Given the description of an element on the screen output the (x, y) to click on. 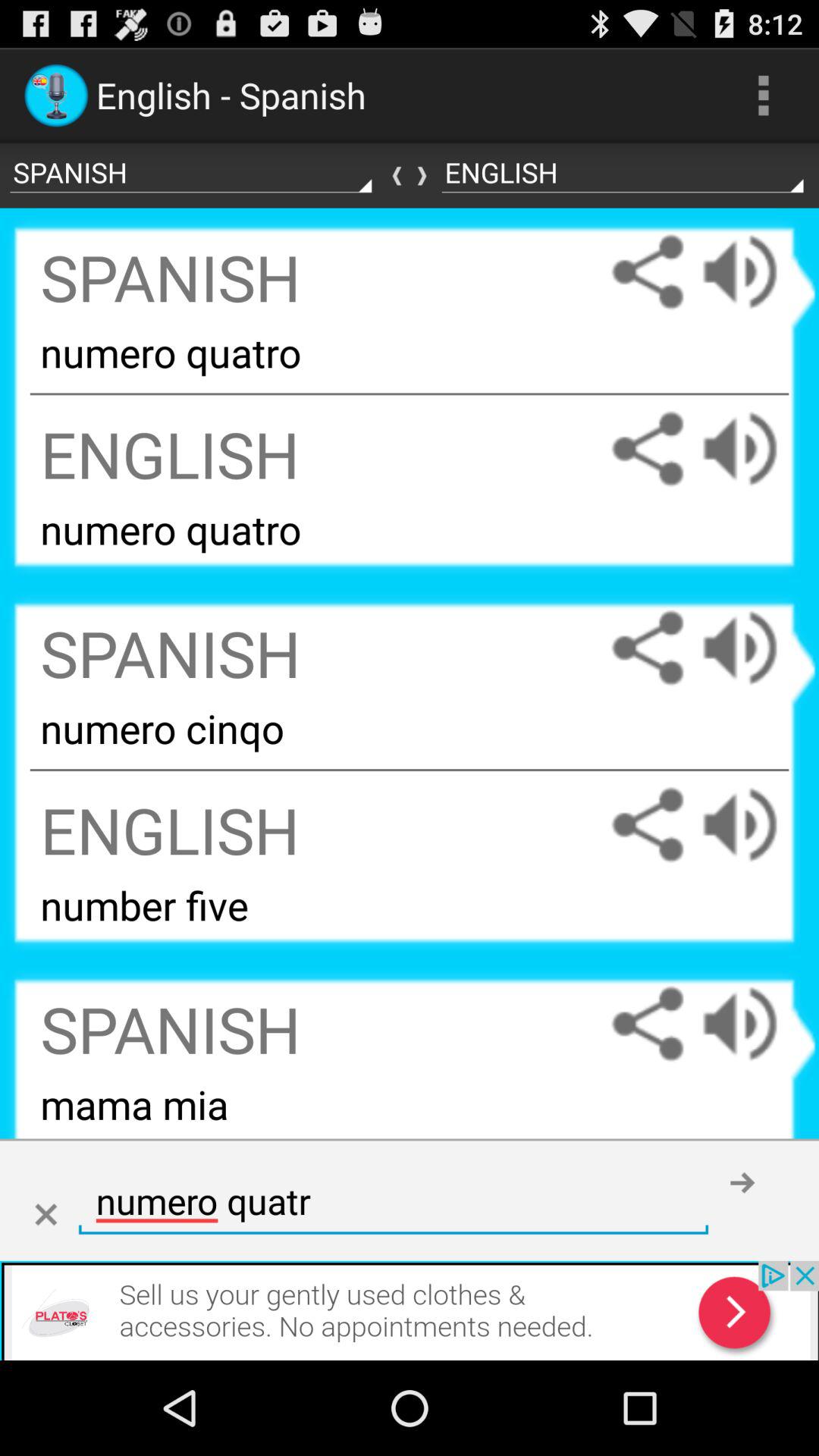
advertisement (409, 1310)
